Given the description of an element on the screen output the (x, y) to click on. 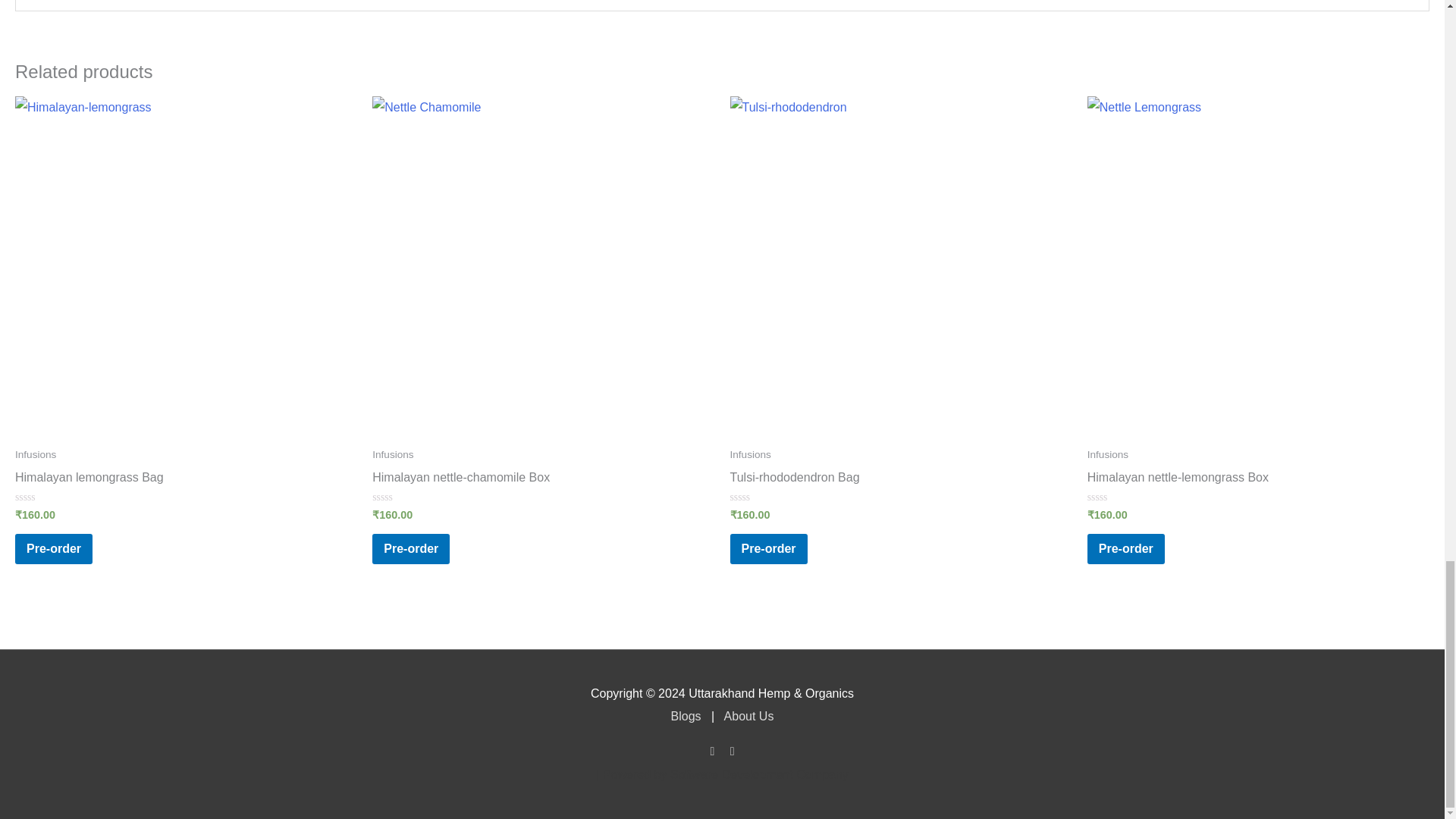
Pre-order (53, 549)
Himalayan lemongrass Bag (185, 481)
Pre-order (410, 549)
Himalayan nettle-chamomile Box (543, 481)
